Given the description of an element on the screen output the (x, y) to click on. 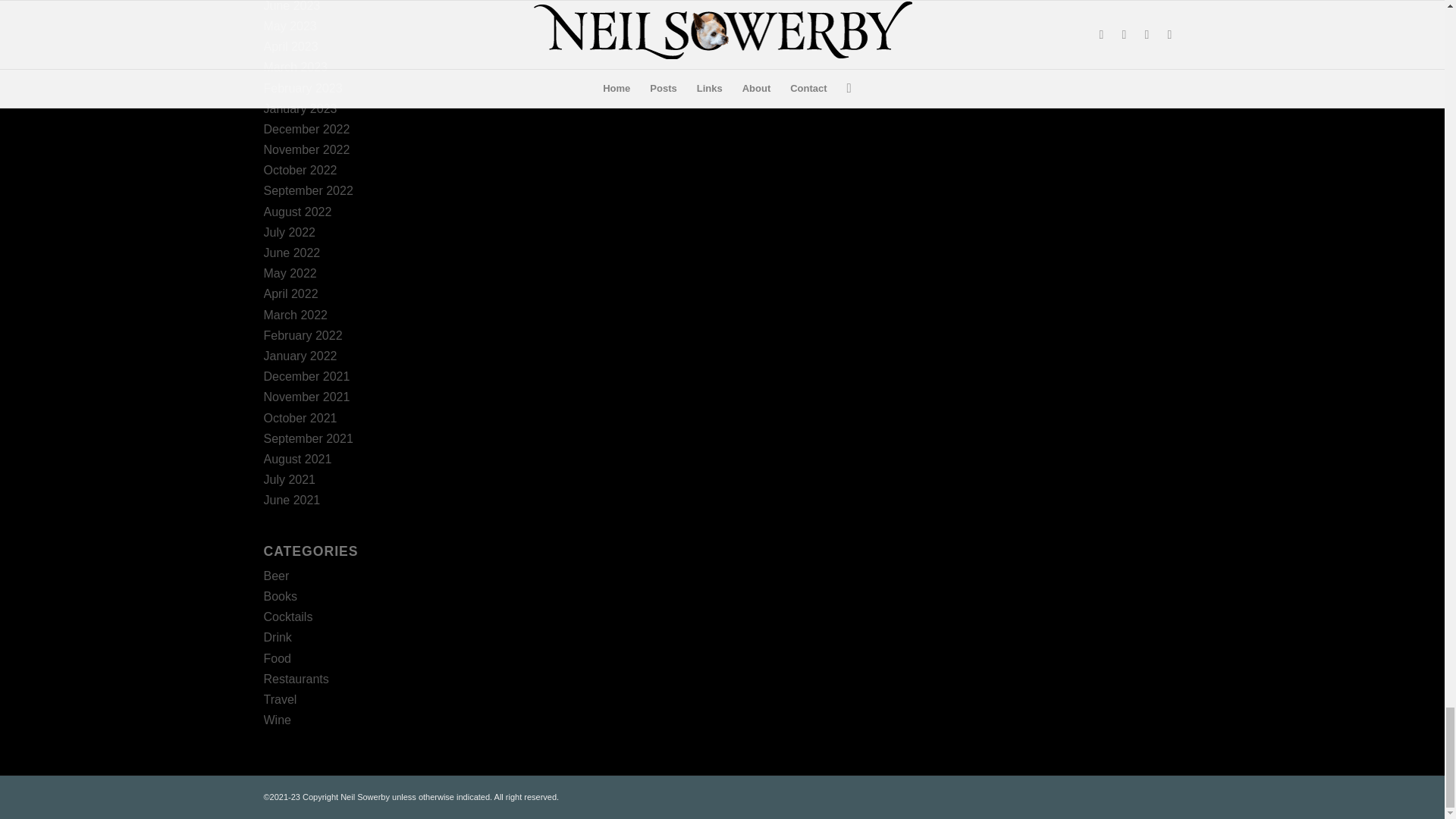
April 2023 (290, 46)
June 2023 (291, 6)
May 2023 (290, 25)
